Given the description of an element on the screen output the (x, y) to click on. 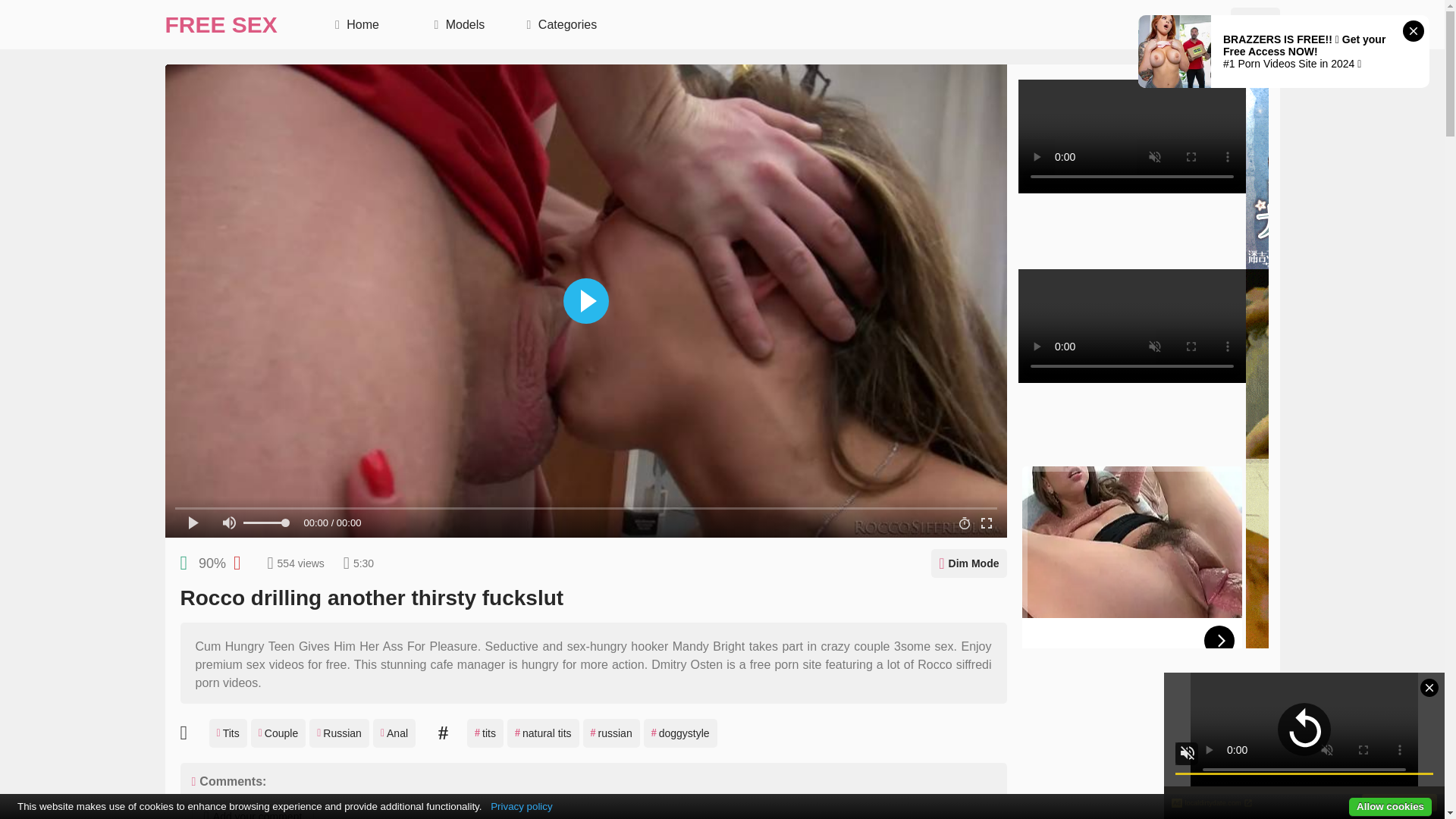
FREE SEX (221, 24)
doggystyle (680, 733)
Models (459, 24)
Models (459, 24)
Couple (277, 733)
Home (356, 24)
Russian (338, 733)
Enable Dim Mode (968, 563)
tits (485, 733)
Home (356, 24)
Tits (228, 733)
Categories (561, 24)
Categories (561, 24)
russian (611, 733)
Anal (393, 733)
